Given the description of an element on the screen output the (x, y) to click on. 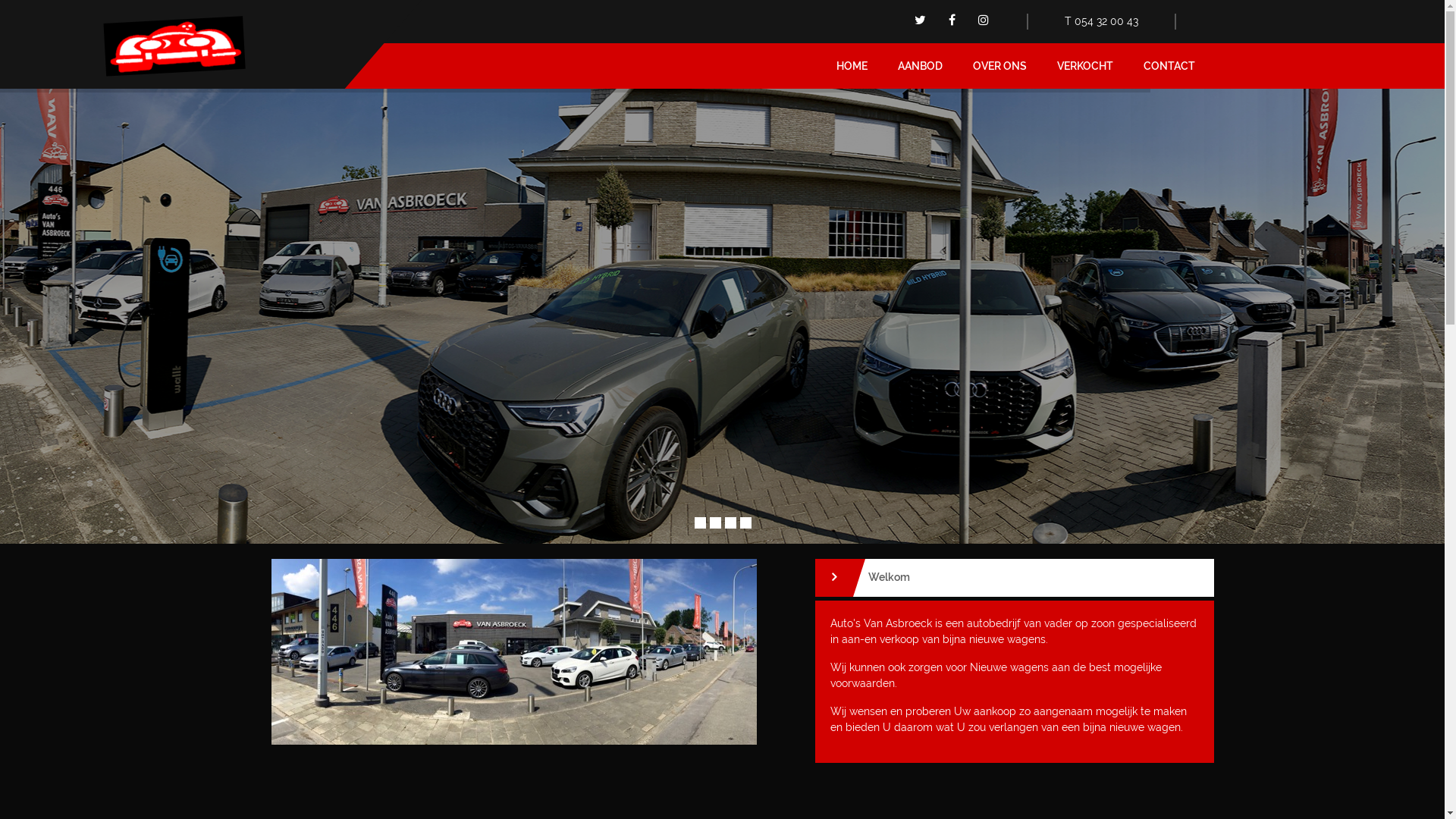
VERKOCHT Element type: text (1084, 65)
OVER ONS Element type: text (998, 65)
T 054 32 00 43 Element type: text (1101, 21)
HOME Element type: text (851, 65)
CONTACT Element type: text (1168, 65)
Welkom Element type: text (1013, 577)
AANBOD Element type: text (920, 65)
